Given the description of an element on the screen output the (x, y) to click on. 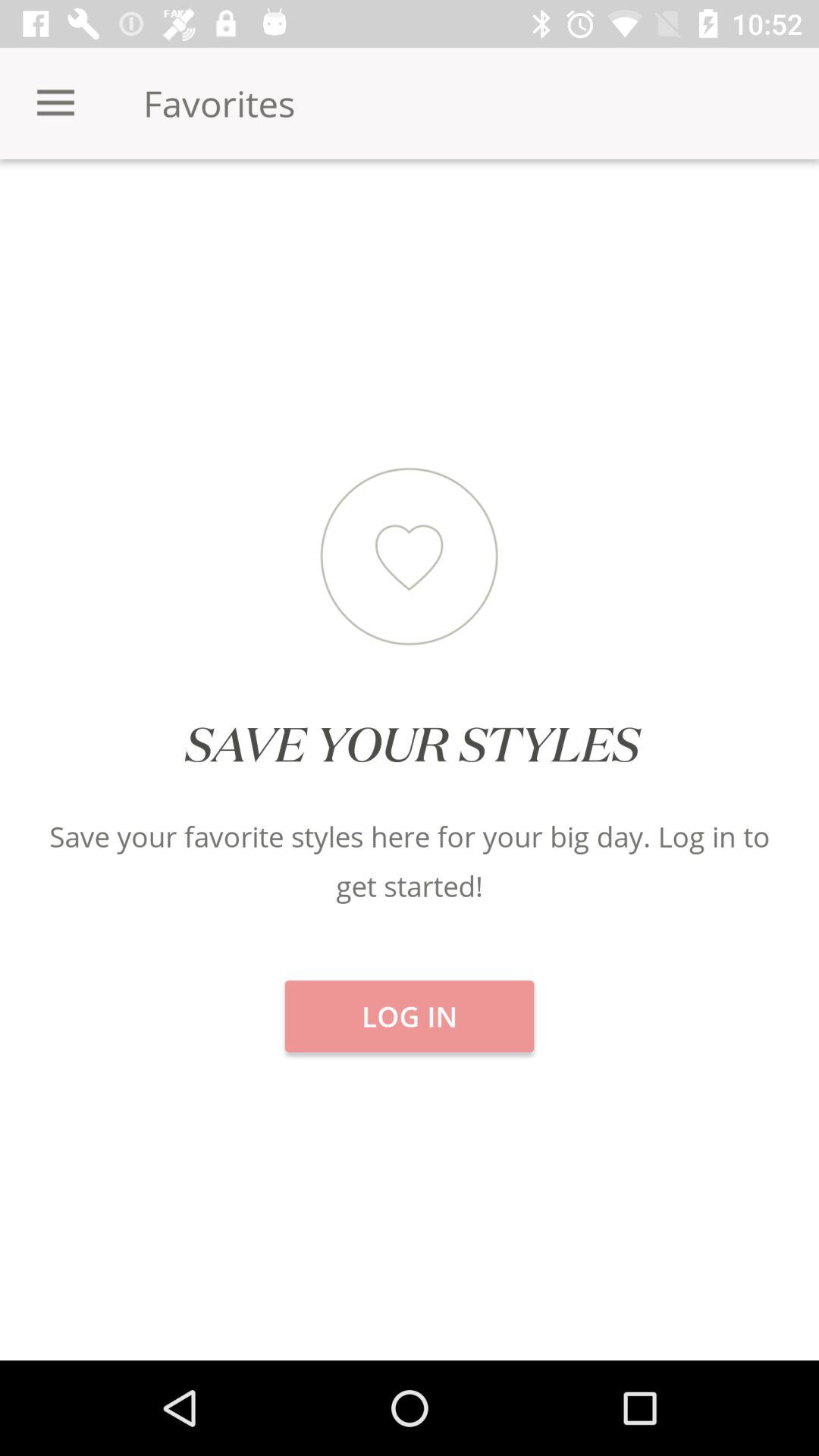
scroll to the categories (136, 212)
